Given the description of an element on the screen output the (x, y) to click on. 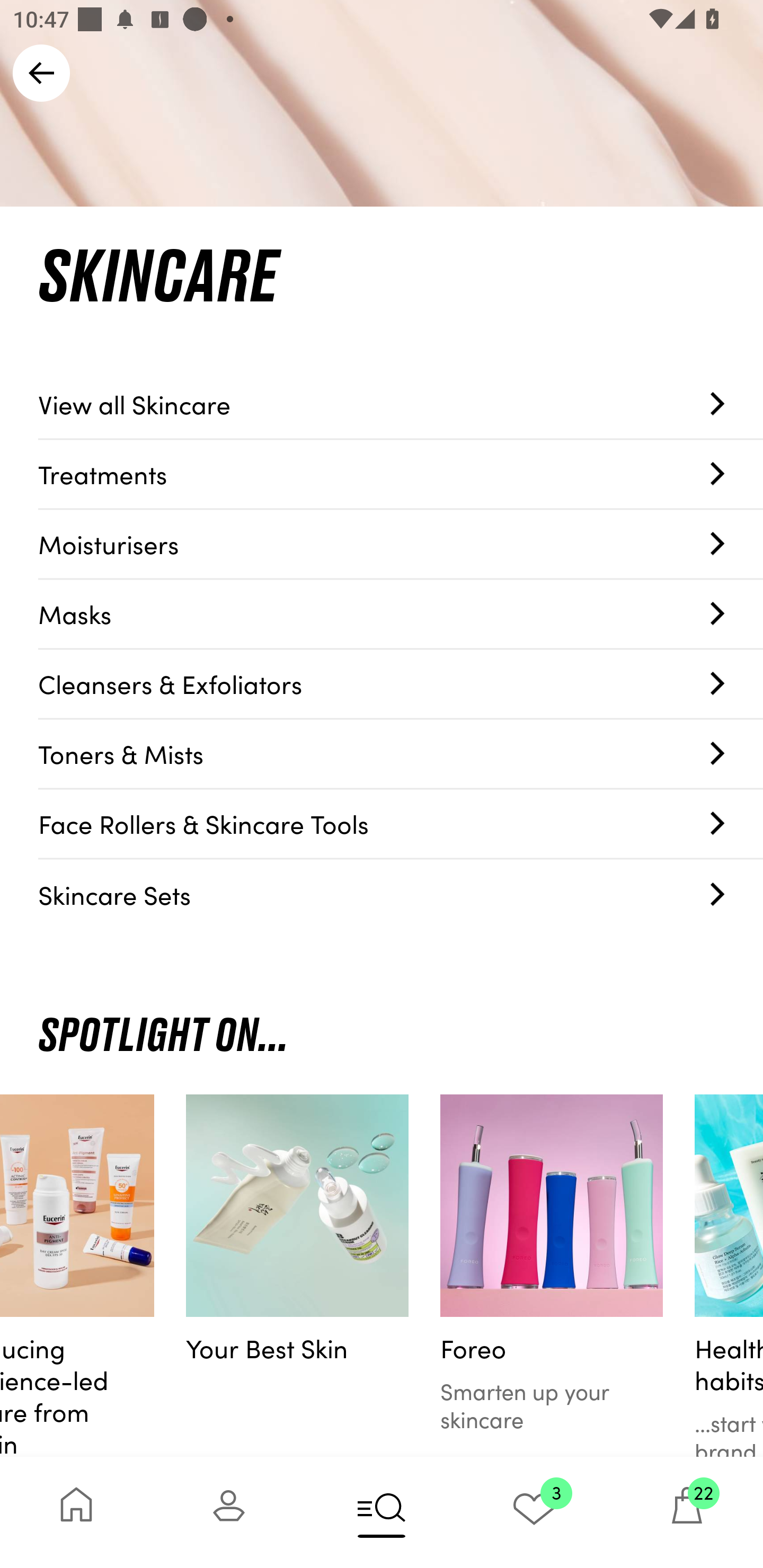
View all Skincare (400, 404)
Treatments (400, 474)
Moisturisers (400, 544)
Masks (400, 614)
Cleansers & Exfoliators (400, 684)
Toners & Mists (400, 753)
Face Rollers & Skincare Tools (400, 823)
Skincare Sets (400, 894)
Introducing the science-led skincare from Eucerin (77, 1275)
Your Best Skin (297, 1275)
Foreo Smarten up your skincare (551, 1275)
3 (533, 1512)
22 (686, 1512)
